Given the description of an element on the screen output the (x, y) to click on. 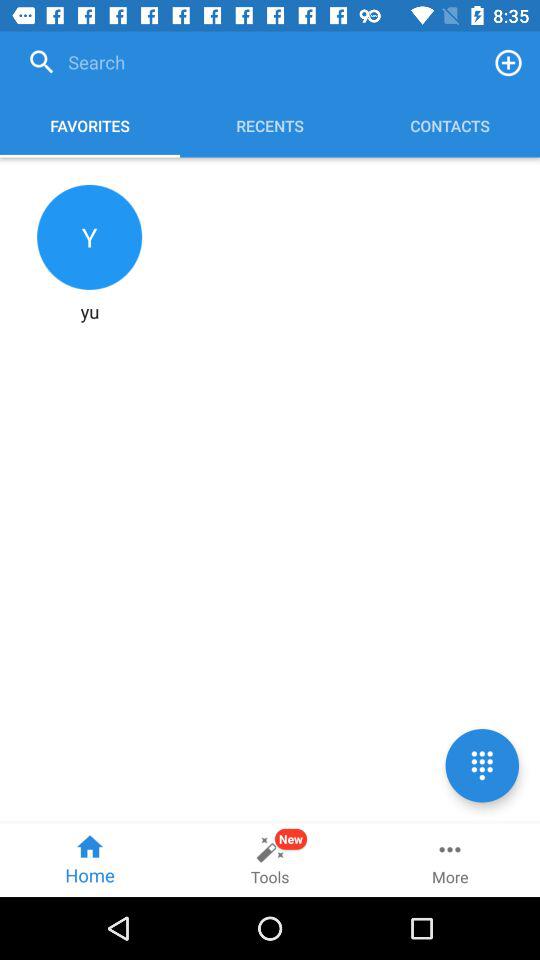
a plus sign symbol for adding a contact (508, 62)
